Given the description of an element on the screen output the (x, y) to click on. 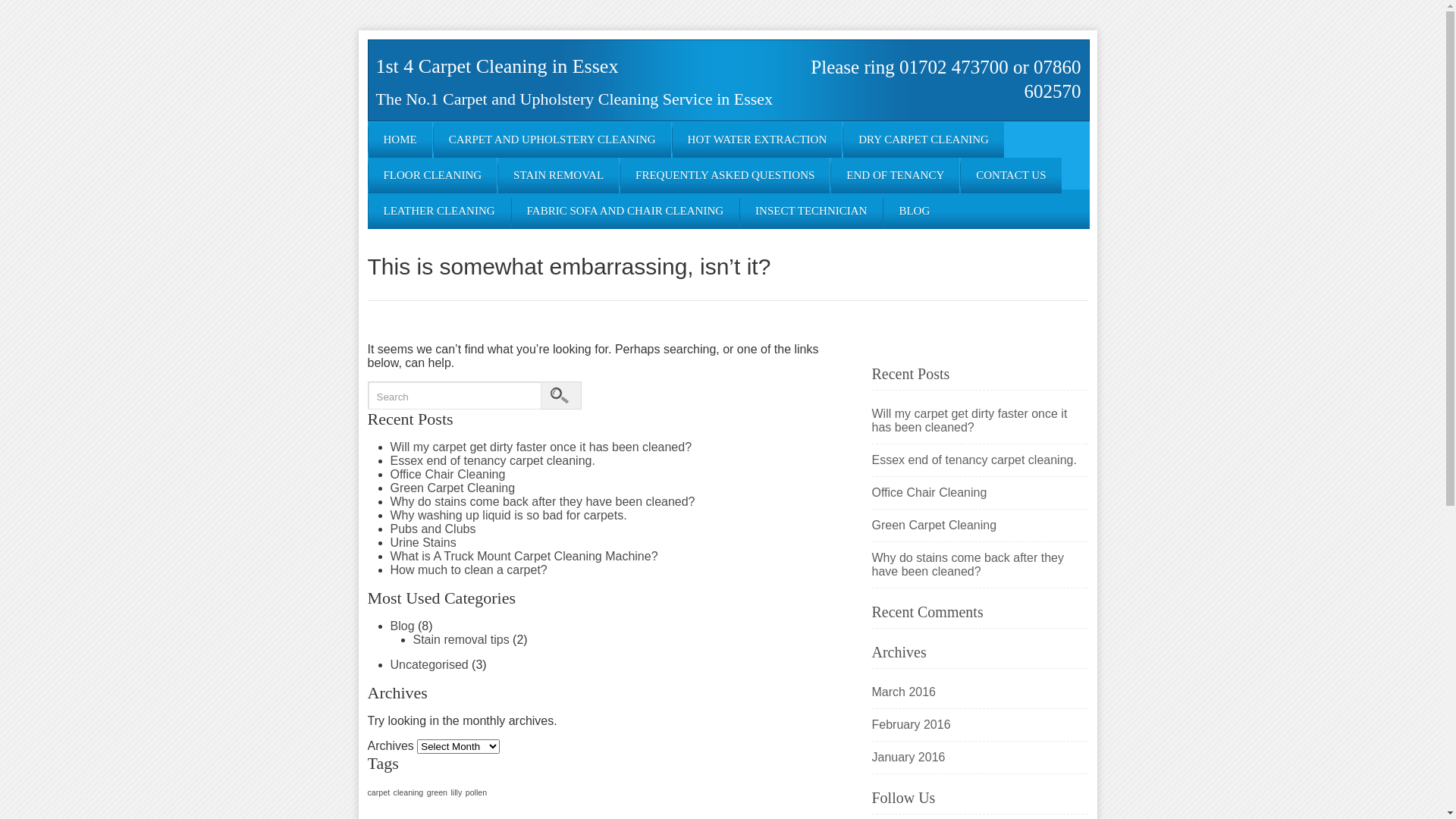
Office Chair Cleaning Element type: text (447, 473)
HOT WATER EXTRACTION Element type: text (757, 139)
FREQUENTLY ASKED QUESTIONS Element type: text (724, 175)
Stain removal tips Element type: text (460, 639)
END OF TENANCY Element type: text (895, 175)
Blog Element type: text (401, 625)
CONTACT US Element type: text (1010, 175)
Will my carpet get dirty faster once it has been cleaned? Element type: text (540, 446)
1st 4 Carpet Cleaning in Essex Element type: text (497, 66)
Please ring 01702 473700 or 07860 602570 Element type: text (945, 78)
LEATHER CLEANING Element type: text (439, 211)
Essex end of tenancy carpet cleaning. Element type: text (980, 460)
How much to clean a carpet? Element type: text (467, 569)
carpet Element type: text (378, 792)
Pubs and Clubs Element type: text (432, 528)
INSECT TECHNICIAN Element type: text (810, 211)
pollen Element type: text (475, 792)
cleaning Element type: text (408, 792)
CARPET AND UPHOLSTERY CLEANING Element type: text (552, 139)
Office Chair Cleaning Element type: text (980, 492)
lilly Element type: text (455, 792)
February 2016 Element type: text (980, 724)
Why do stains come back after they have been cleaned? Element type: text (541, 501)
DRY CARPET CLEANING Element type: text (923, 139)
Why do stains come back after they have been cleaned? Element type: text (980, 564)
Uncategorised Element type: text (428, 664)
BLOG Element type: text (913, 211)
March 2016 Element type: text (980, 692)
STAIN REMOVAL Element type: text (558, 175)
FABRIC SOFA AND CHAIR CLEANING Element type: text (624, 211)
January 2016 Element type: text (980, 757)
Essex end of tenancy carpet cleaning. Element type: text (491, 460)
HOME Element type: text (400, 139)
Urine Stains Element type: text (422, 542)
Will my carpet get dirty faster once it has been cleaned? Element type: text (980, 420)
Why washing up liquid is so bad for carpets. Element type: text (507, 514)
Green Carpet Cleaning Element type: text (980, 525)
green Element type: text (436, 792)
What is A Truck Mount Carpet Cleaning Machine? Element type: text (523, 555)
Green Carpet Cleaning Element type: text (451, 487)
FLOOR CLEANING Element type: text (432, 175)
